Given the description of an element on the screen output the (x, y) to click on. 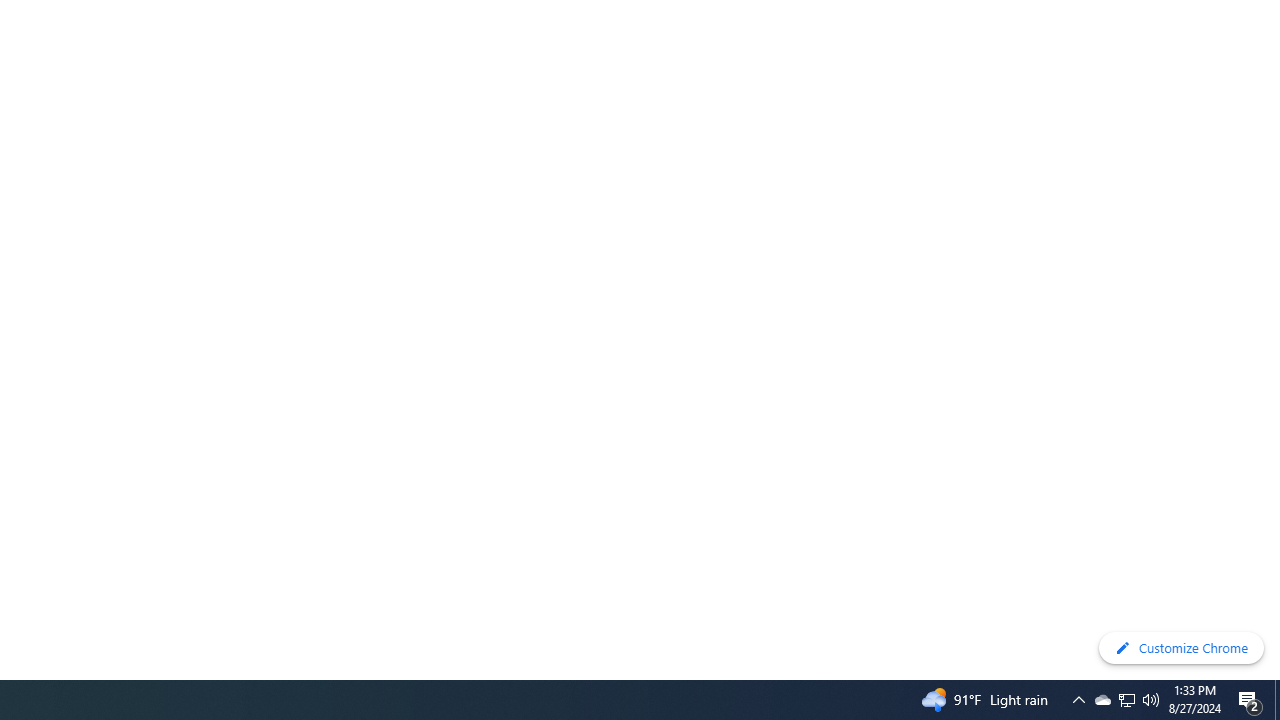
Customize Chrome (1181, 647)
